Given the description of an element on the screen output the (x, y) to click on. 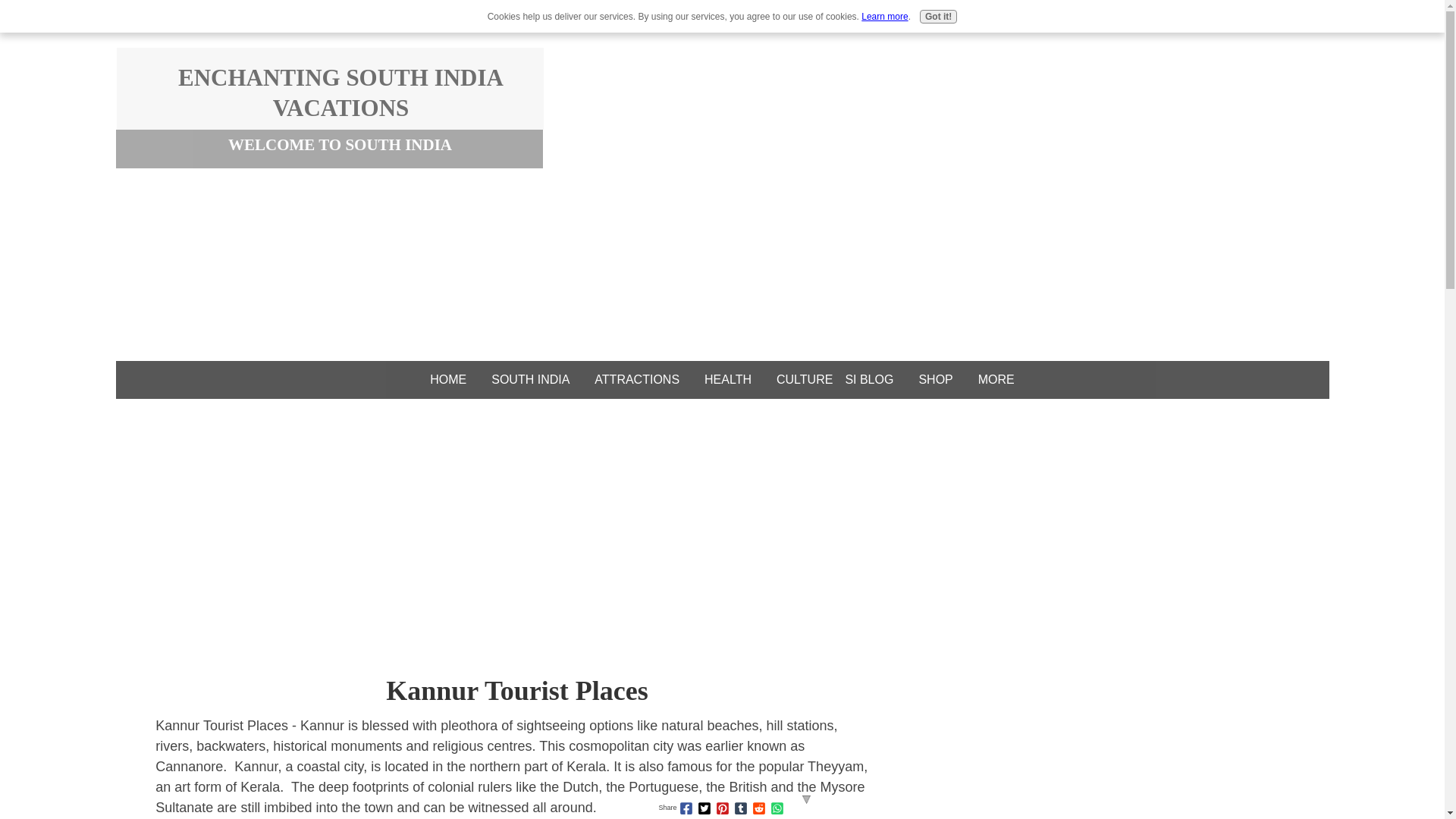
HOME (447, 379)
ENCHANTING SOUTH INDIA VACATIONS (340, 92)
